Given the description of an element on the screen output the (x, y) to click on. 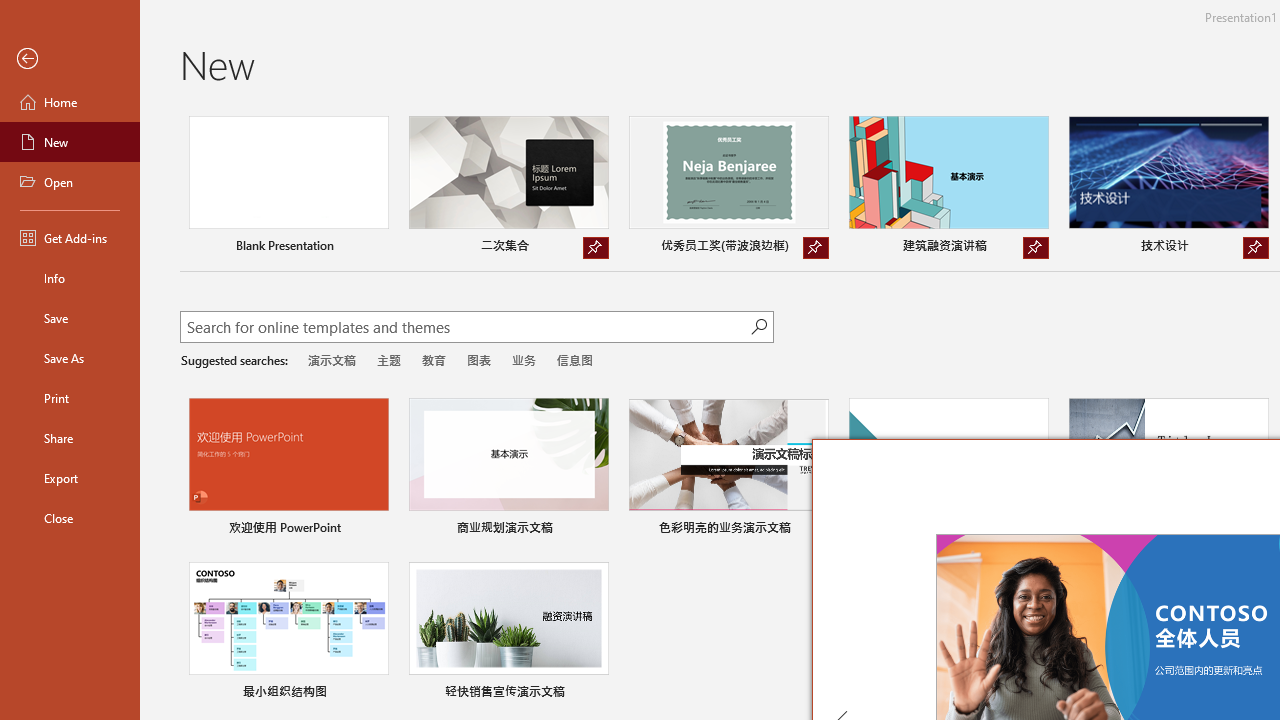
Info (69, 277)
Pin to list (595, 693)
Unpin from list (1255, 247)
